Given the description of an element on the screen output the (x, y) to click on. 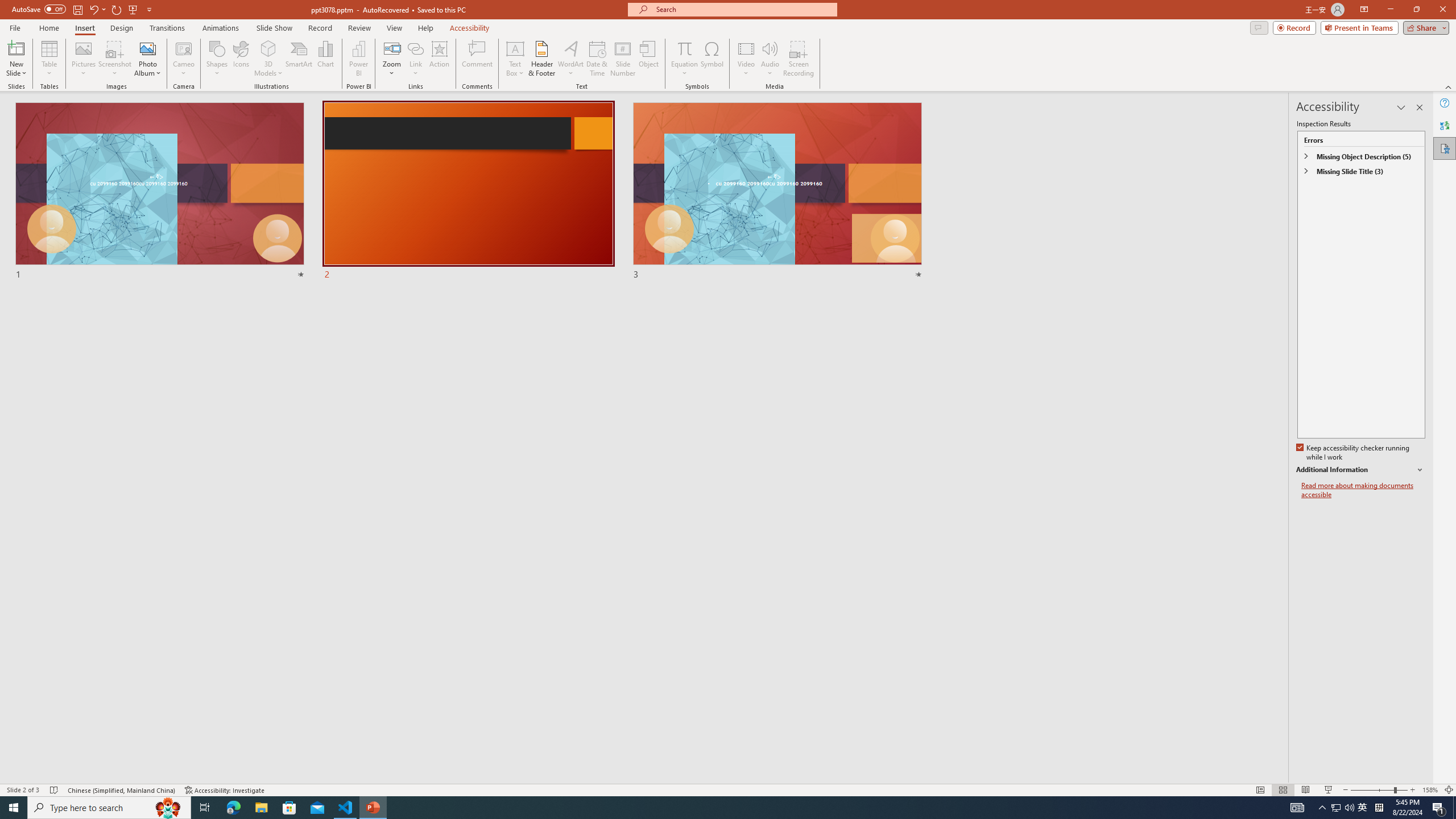
Table (49, 58)
Header & Footer... (541, 58)
